Given the description of an element on the screen output the (x, y) to click on. 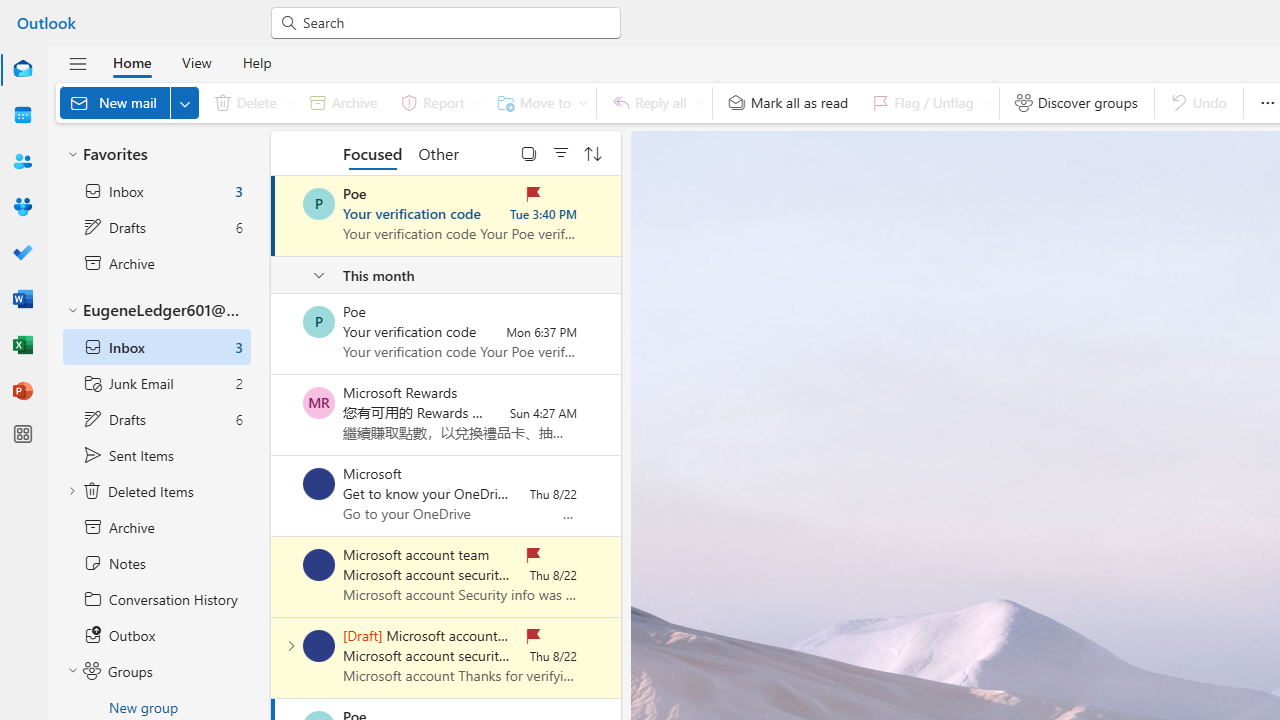
Search for email, meetings, files and more. (454, 21)
Archive (343, 102)
Microsoft account team (319, 645)
Mail (22, 69)
Expand to see flag options (985, 102)
Calendar (22, 115)
Groups (22, 206)
Select a conversation (319, 645)
Sorted: By Date (593, 152)
System (10, 11)
Calendar (22, 115)
Expand conversation (291, 646)
More apps (22, 434)
Word (22, 298)
